Given the description of an element on the screen output the (x, y) to click on. 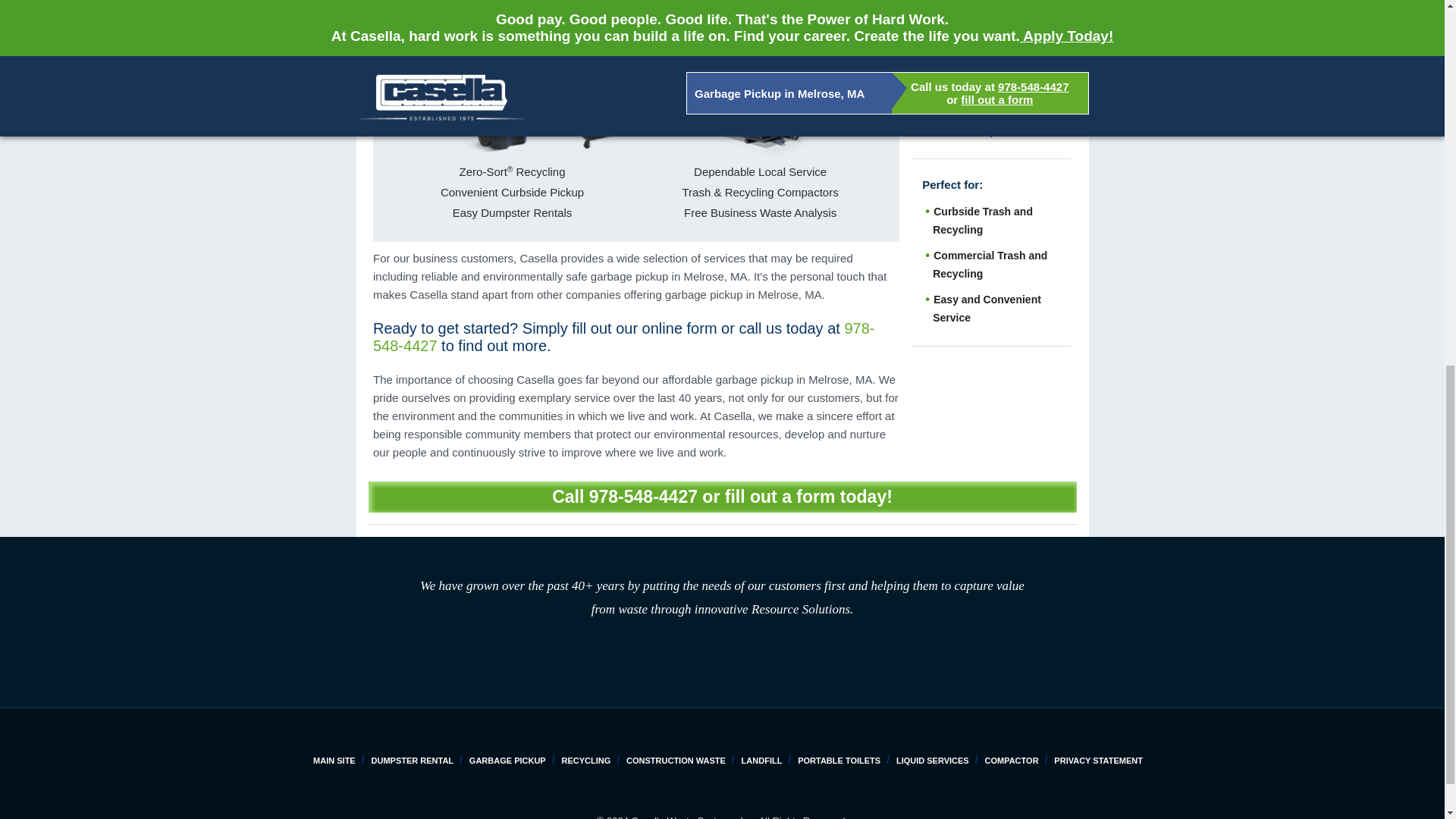
LANDFILL (762, 759)
RECYCLING (585, 759)
CONSTRUCTION WASTE (675, 759)
PORTABLE TOILETS (838, 759)
978-548-4427 (623, 336)
LIQUID SERVICES (932, 759)
fill out a form (780, 496)
978-548-4427 (643, 496)
GARBAGE PICKUP (507, 759)
DUMPSTER RENTAL (412, 759)
PRIVACY STATEMENT (1098, 759)
COMPACTOR (1011, 759)
MAIN SITE (334, 759)
